Given the description of an element on the screen output the (x, y) to click on. 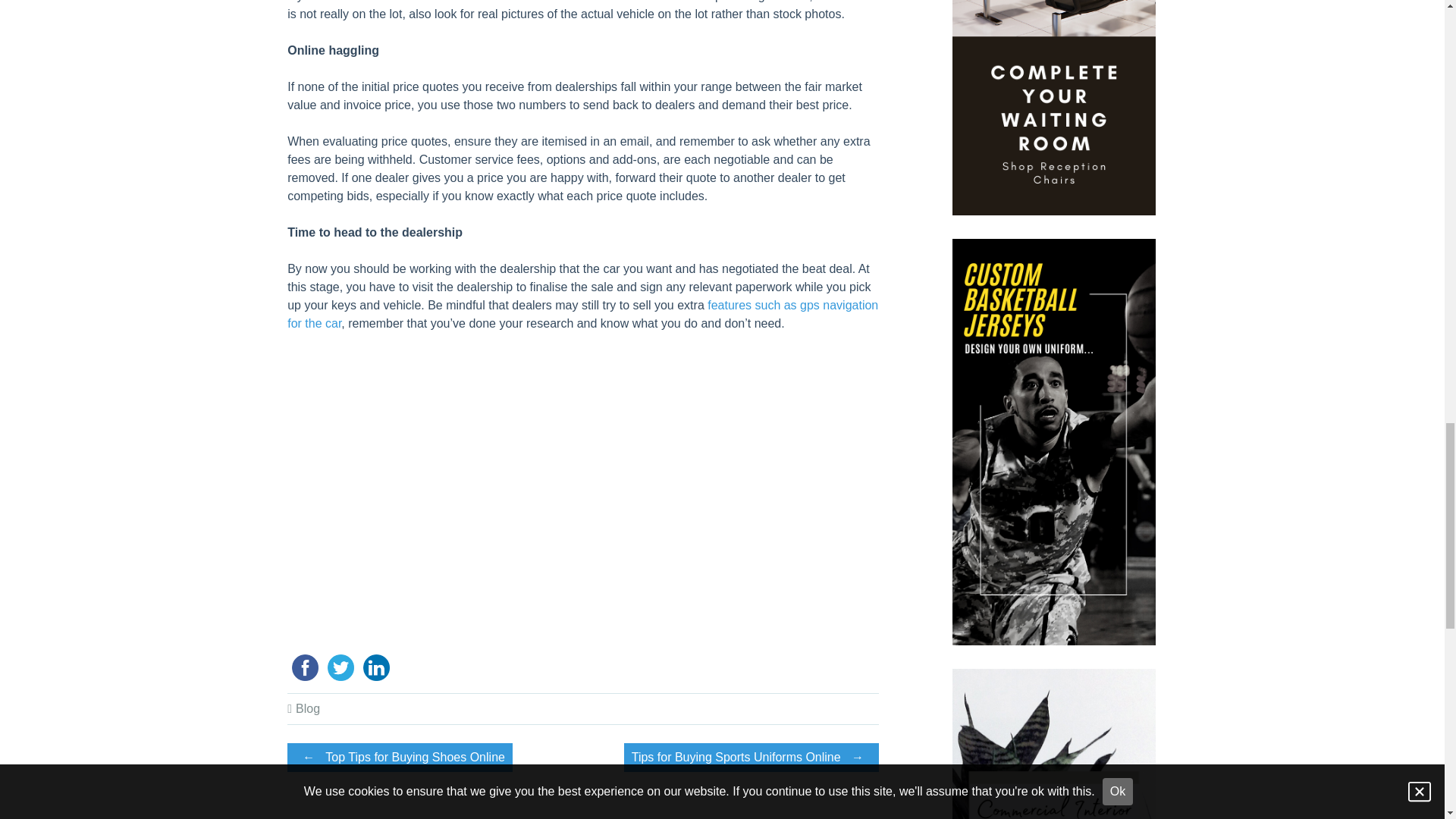
Blog (307, 707)
features such as gps navigation for the car (581, 314)
Twitter (340, 667)
LinkedIn (376, 667)
Facebook (304, 667)
